Given the description of an element on the screen output the (x, y) to click on. 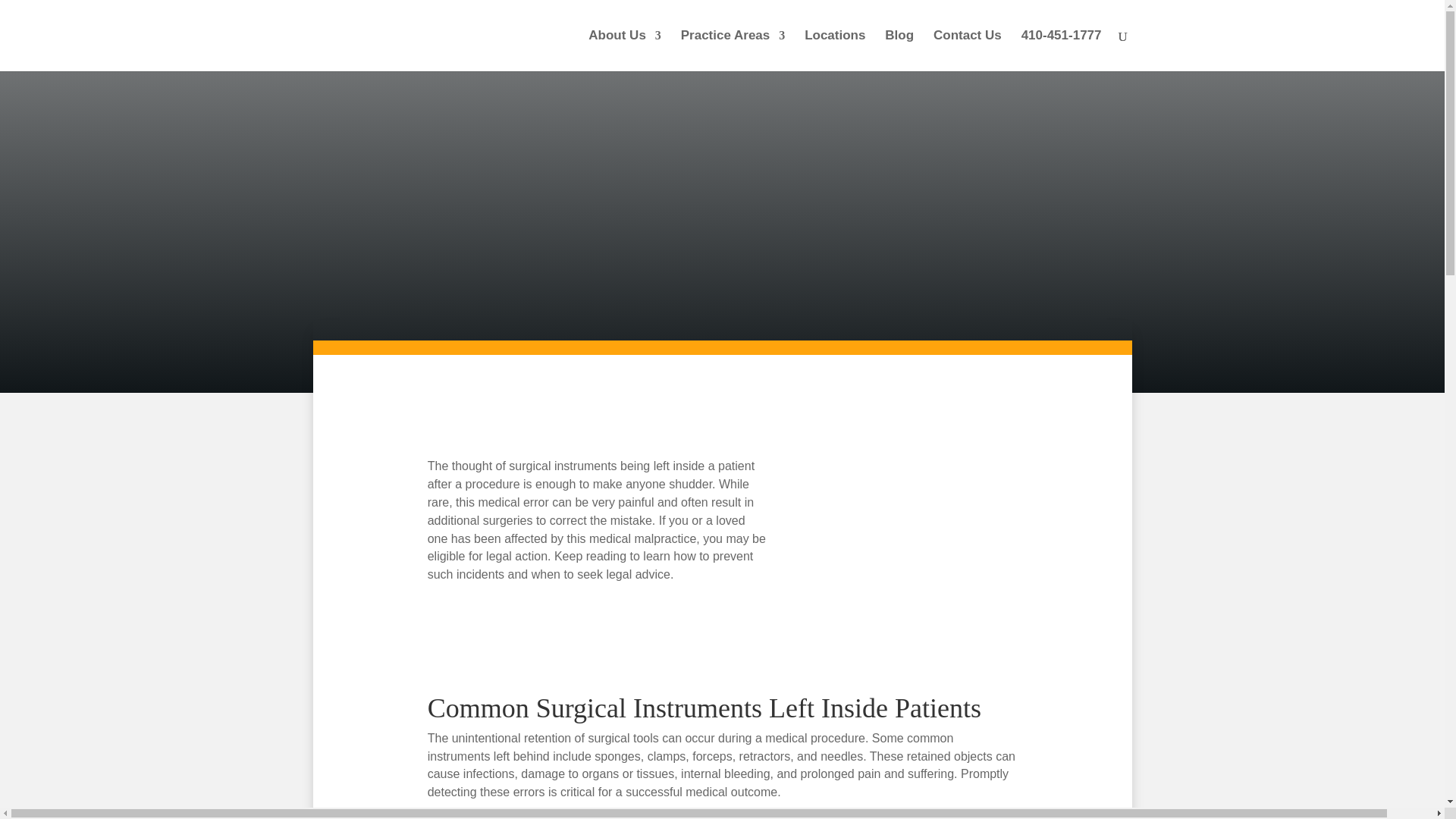
410-451-1777 (1062, 50)
About Us (624, 50)
Locations (834, 50)
Contact Us (967, 50)
Practice Areas (733, 50)
